Given the description of an element on the screen output the (x, y) to click on. 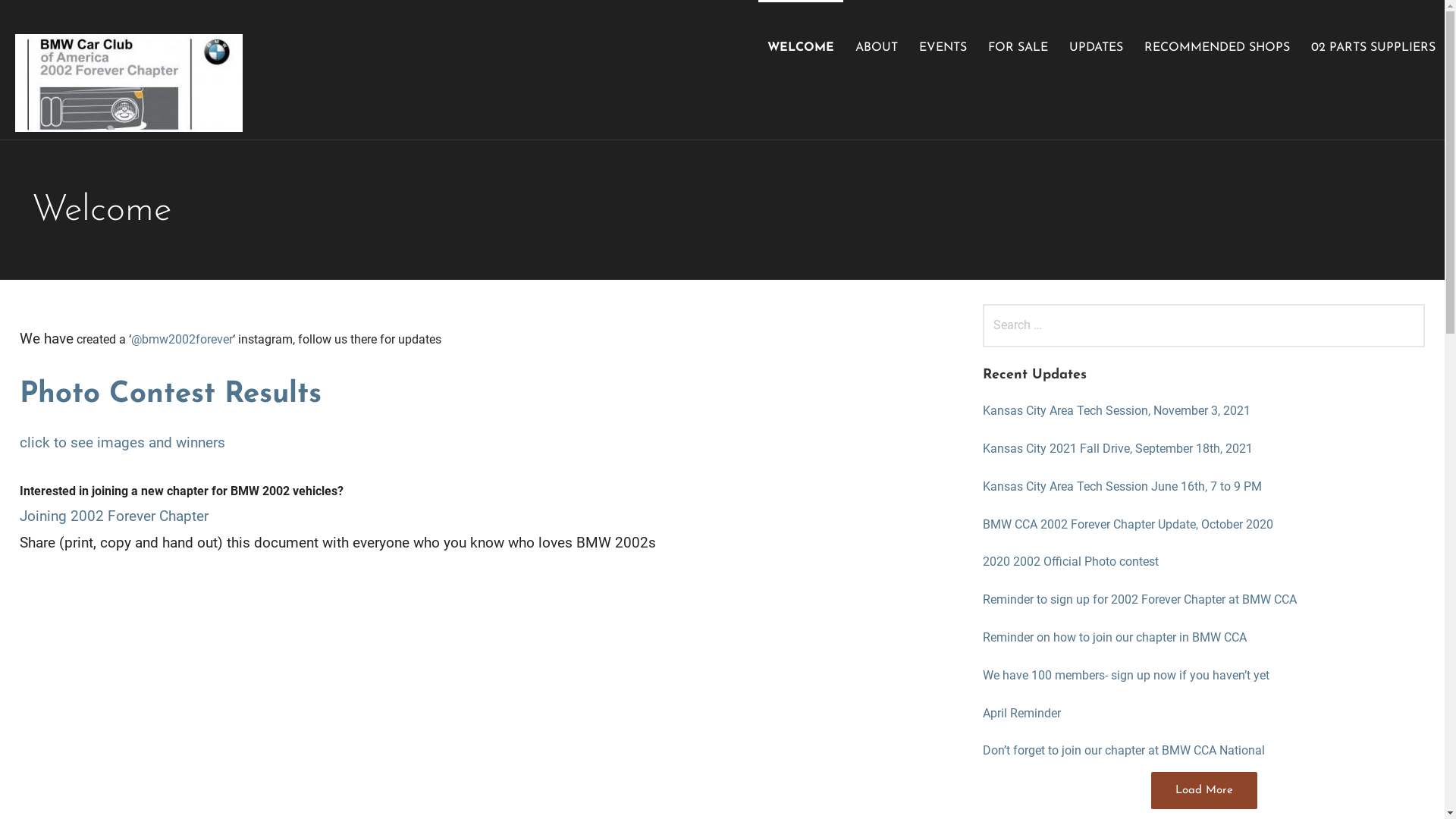
@bmw2002forever Element type: text (181, 339)
ABOUT Element type: text (876, 47)
Kansas City 2021 Fall Drive, September 18th, 2021 Element type: text (1203, 449)
click to see images and winners Element type: text (122, 442)
Kansas City Area Tech Session, November 3, 2021 Element type: text (1203, 411)
WELCOME Element type: text (800, 47)
02 PARTS SUPPLIERS Element type: text (1373, 47)
Skip to content Element type: text (0, 0)
RECOMMENDED SHOPS Element type: text (1217, 47)
2002 Forever Element type: text (309, 84)
Reminder on how to join our chapter in BMW CCA Element type: text (1203, 638)
Reminder to sign up for 2002 Forever Chapter at BMW CCA Element type: text (1203, 600)
April Reminder Element type: text (1203, 713)
BMW CCA 2002 Forever Chapter Update, October 2020 Element type: text (1203, 525)
UPDATES Element type: text (1096, 47)
Photo Contest Results Element type: text (170, 394)
2020 2002 Official Photo contest Element type: text (1203, 562)
Joining 2002 Forever Chapter Element type: text (113, 515)
Search Element type: text (42, 18)
Kansas City Area Tech Session June 16th, 7 to 9 PM Element type: text (1203, 487)
FOR SALE Element type: text (1018, 47)
Load More Element type: text (1204, 790)
EVENTS Element type: text (942, 47)
